Given the description of an element on the screen output the (x, y) to click on. 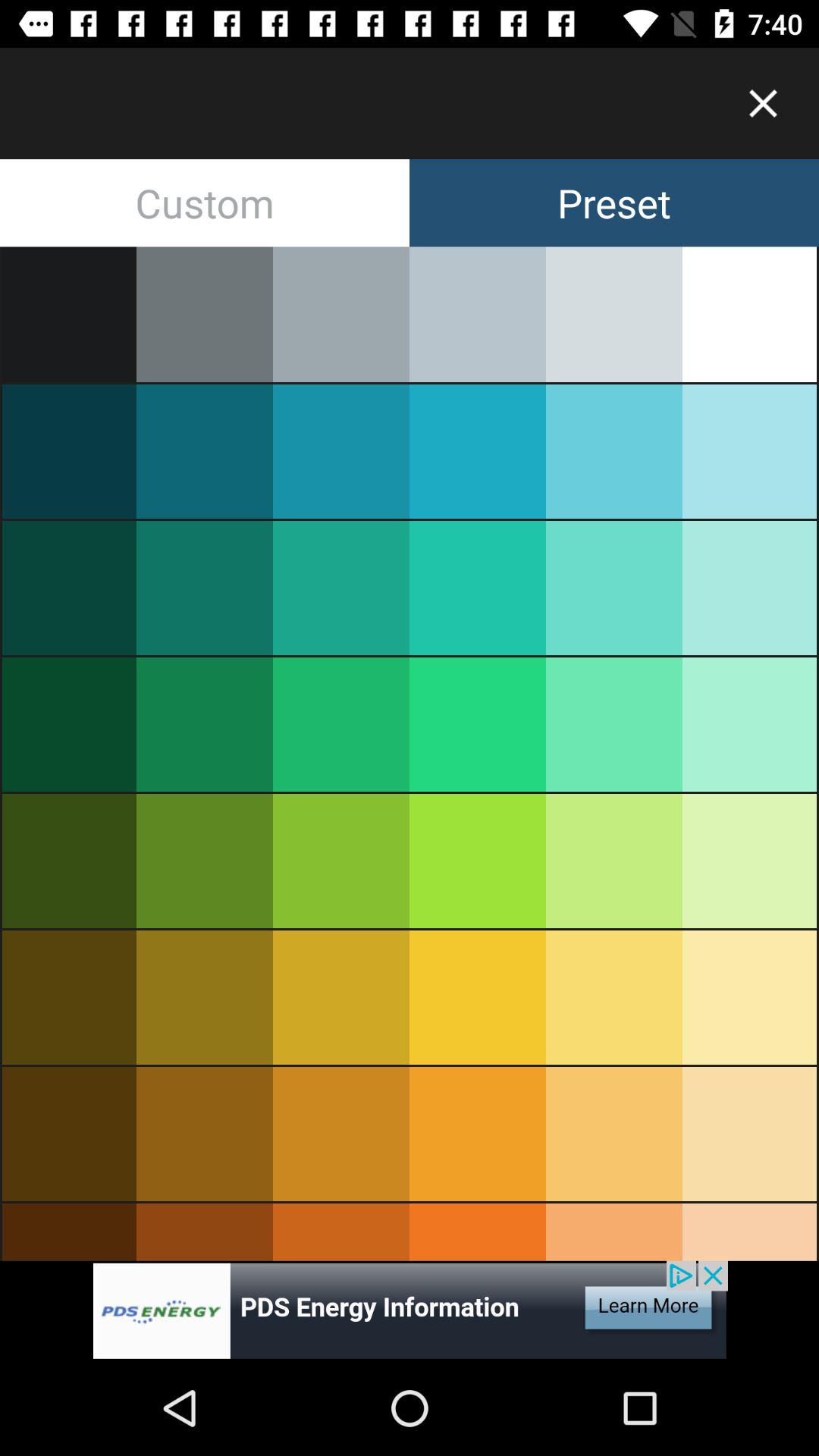
close button (763, 103)
